Given the description of an element on the screen output the (x, y) to click on. 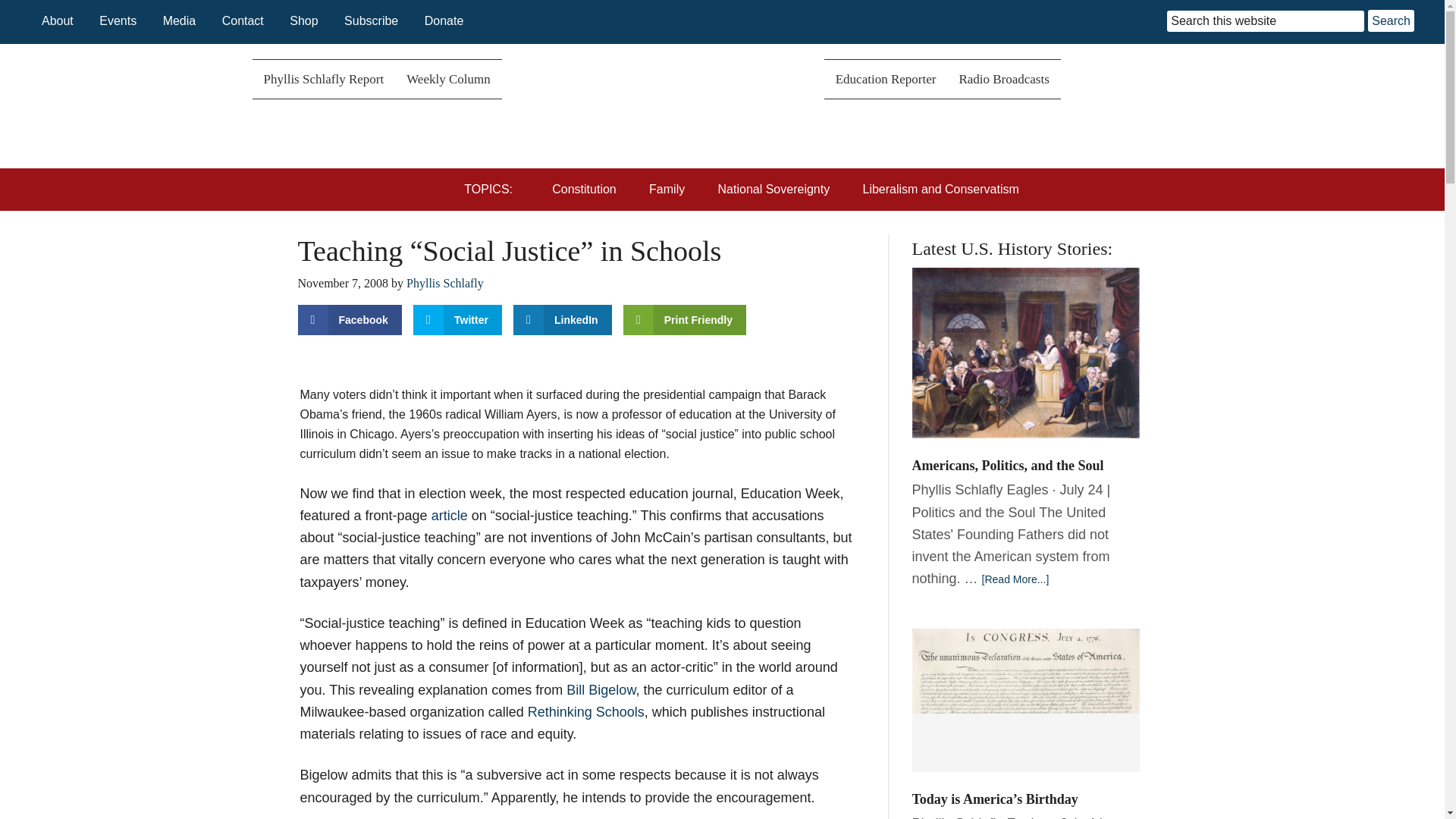
Search (1390, 20)
Search (1390, 20)
Education Reporter (885, 78)
Media (179, 20)
About (58, 20)
Subscribe (370, 20)
Search (1390, 20)
TOPICS:     (494, 189)
Phyllis Schlafly Report (322, 78)
Radio Broadcasts (1003, 78)
Events (117, 20)
Weekly Column (448, 78)
Constitution   (586, 189)
Contact (242, 20)
Donate (444, 20)
